Given the description of an element on the screen output the (x, y) to click on. 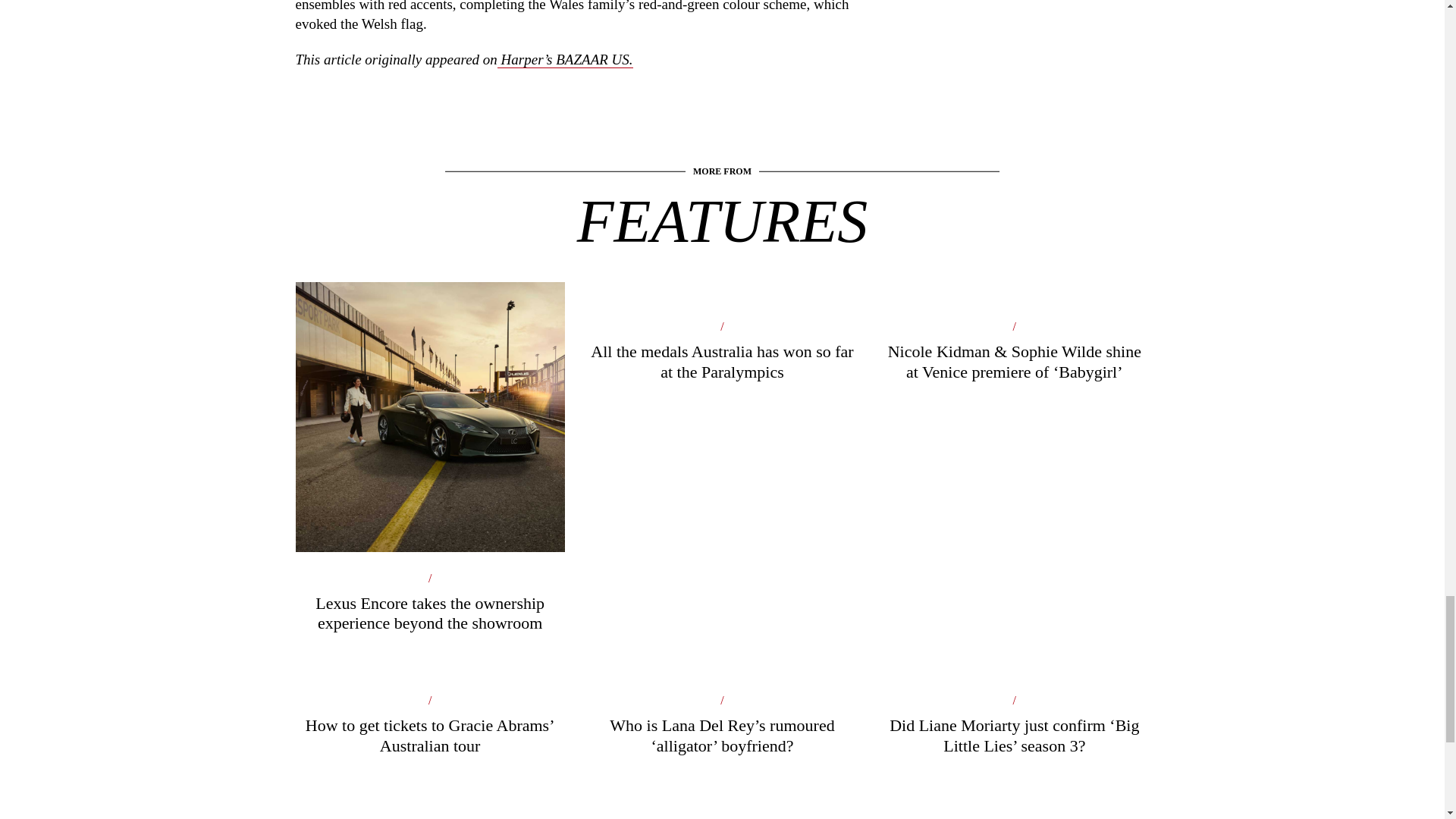
All the medals Australia has won so far at the Paralympics (722, 367)
All the medals Australia has won so far at the Paralympics (722, 367)
